Given the description of an element on the screen output the (x, y) to click on. 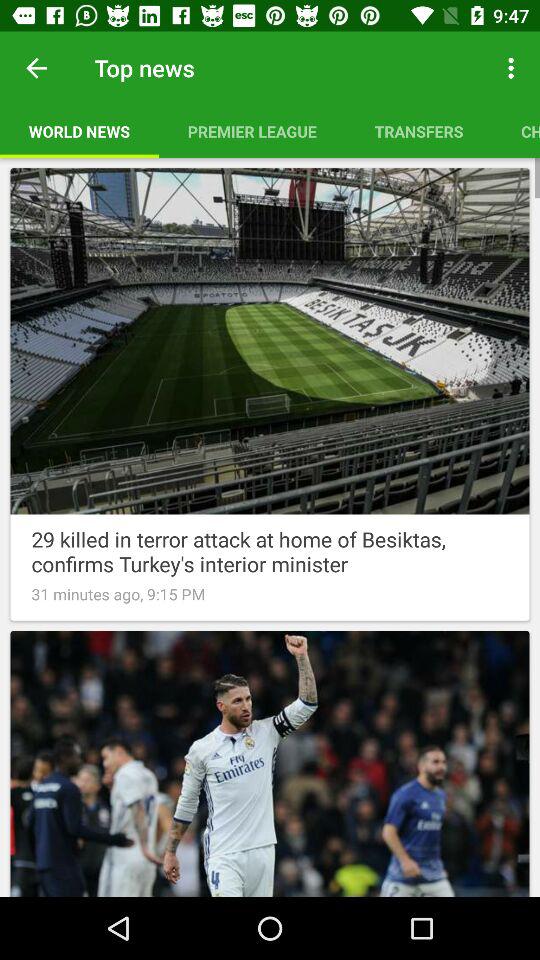
jump until the world news item (79, 131)
